Given the description of an element on the screen output the (x, y) to click on. 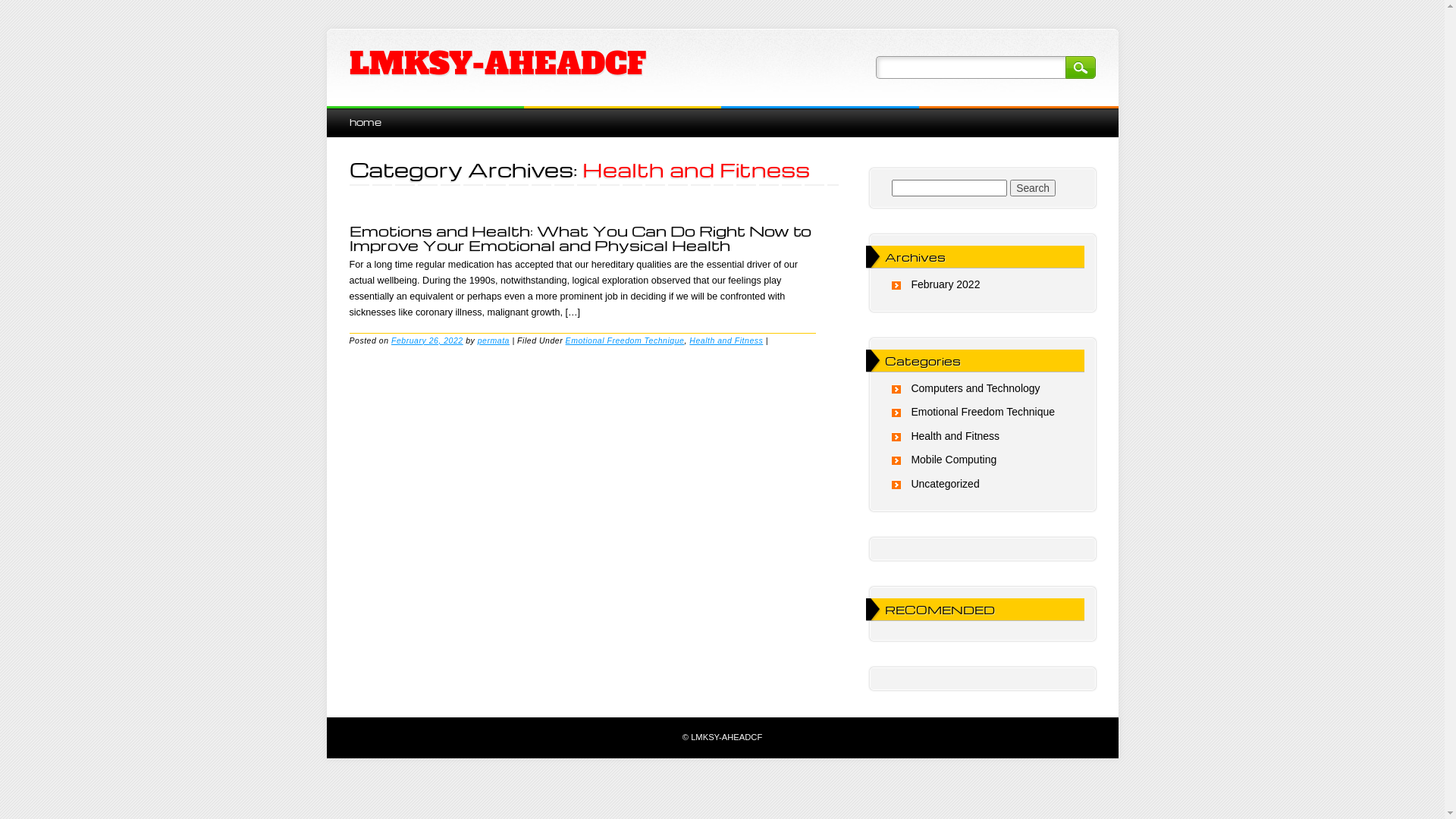
Search Element type: text (1079, 67)
Emotional Freedom Technique Element type: text (982, 411)
Search Element type: text (1032, 187)
permata Element type: text (493, 339)
February 2022 Element type: text (944, 284)
LMKSY-AHEADCF Element type: text (496, 63)
Health and Fitness Element type: text (954, 435)
Uncategorized Element type: text (944, 483)
Skip to content Element type: text (361, 113)
Computers and Technology Element type: text (974, 388)
Emotional Freedom Technique Element type: text (624, 339)
Health and Fitness Element type: text (725, 339)
home Element type: text (364, 121)
February 26, 2022 Element type: text (427, 339)
Mobile Computing Element type: text (953, 459)
